Given the description of an element on the screen output the (x, y) to click on. 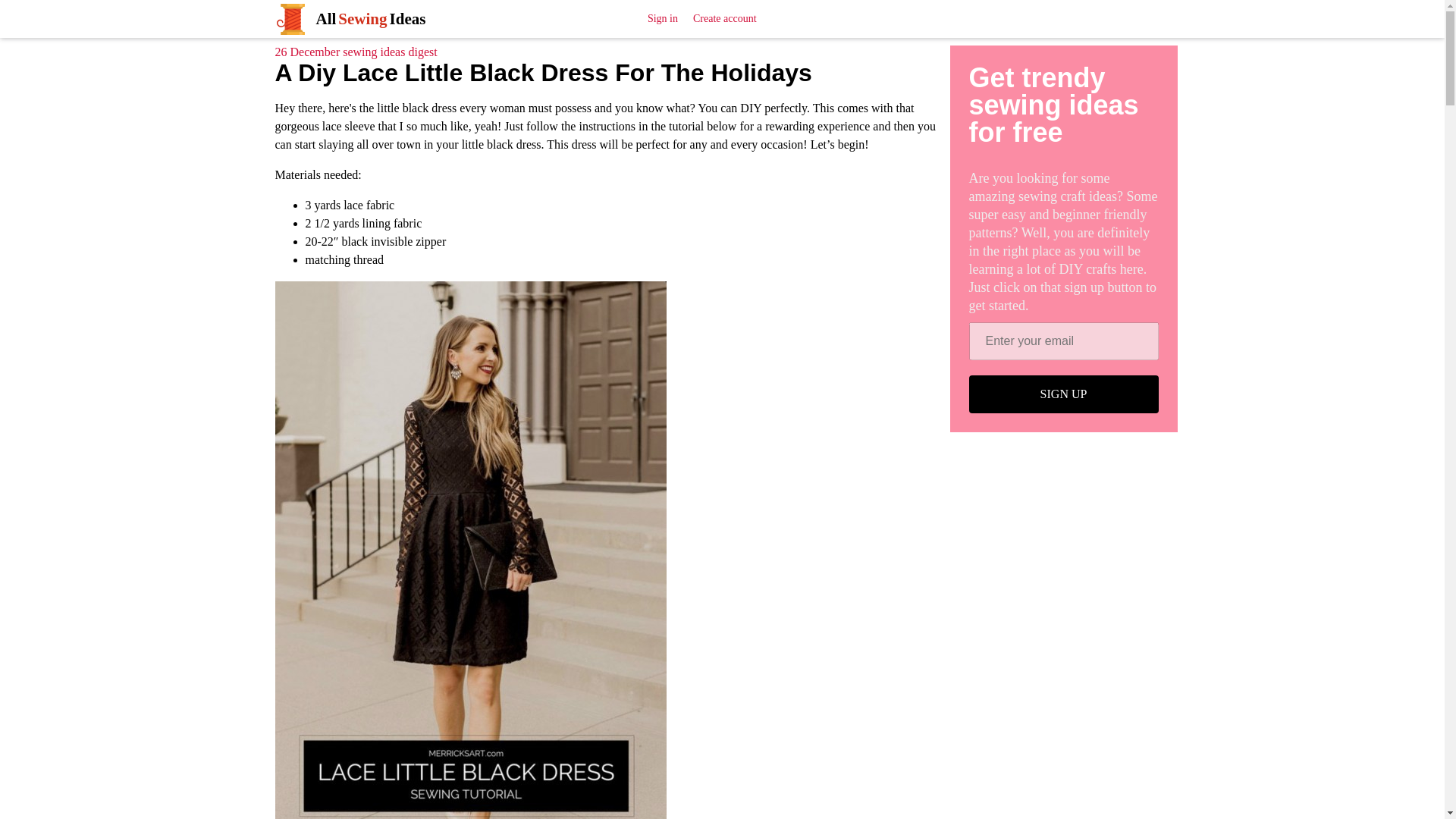
26 December sewing ideas digest (355, 51)
Sign in (662, 18)
Sign in (662, 18)
AllSewingIdeas (349, 18)
Create account (724, 18)
Create account (724, 18)
